Given the description of an element on the screen output the (x, y) to click on. 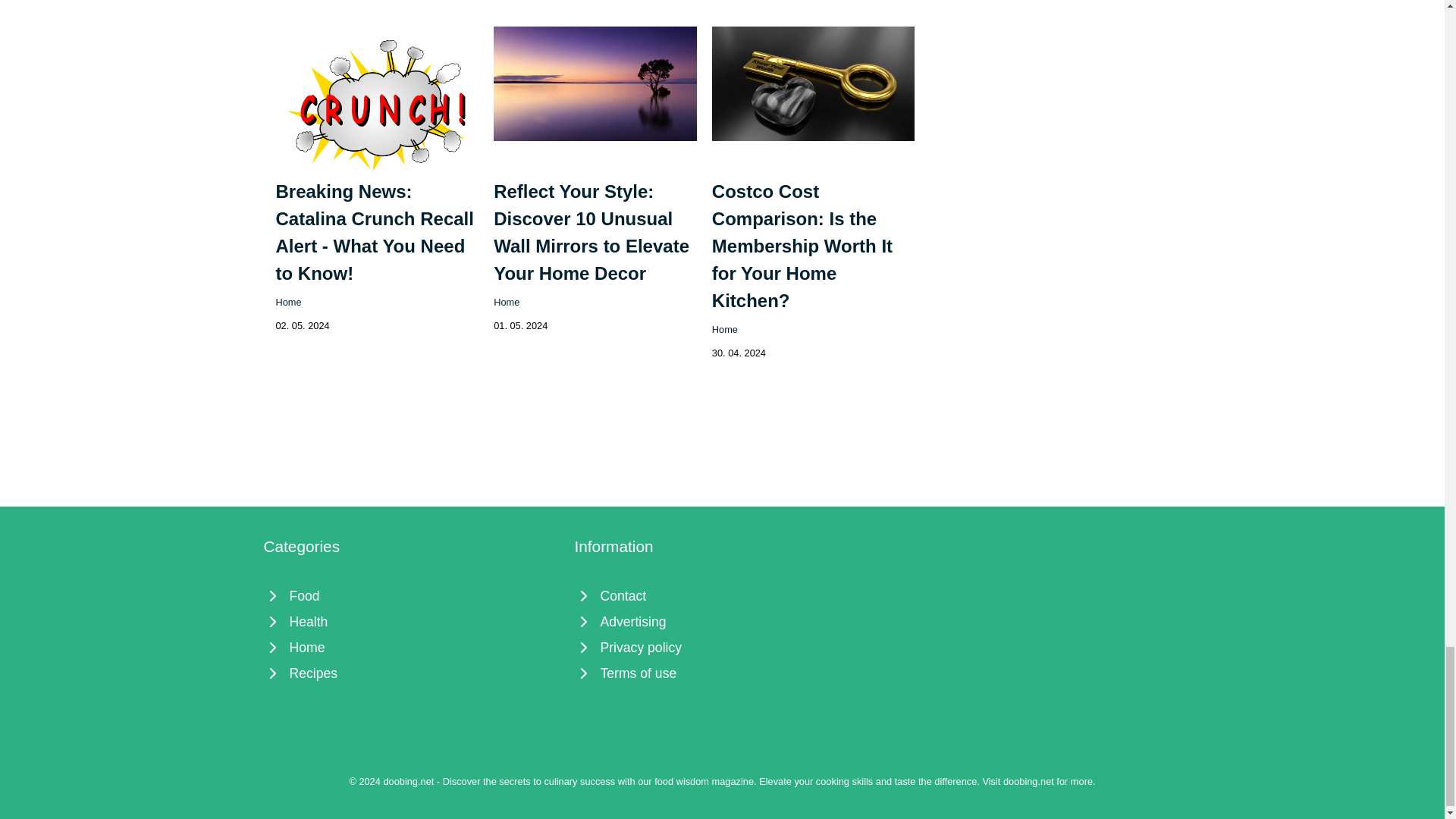
Terms of use (722, 673)
Recipes (411, 673)
Food (411, 596)
Home (288, 301)
Advertising (722, 621)
Home (724, 328)
Home (506, 301)
Contact (722, 596)
Health (411, 621)
Home (411, 647)
Privacy policy (722, 647)
